Given the description of an element on the screen output the (x, y) to click on. 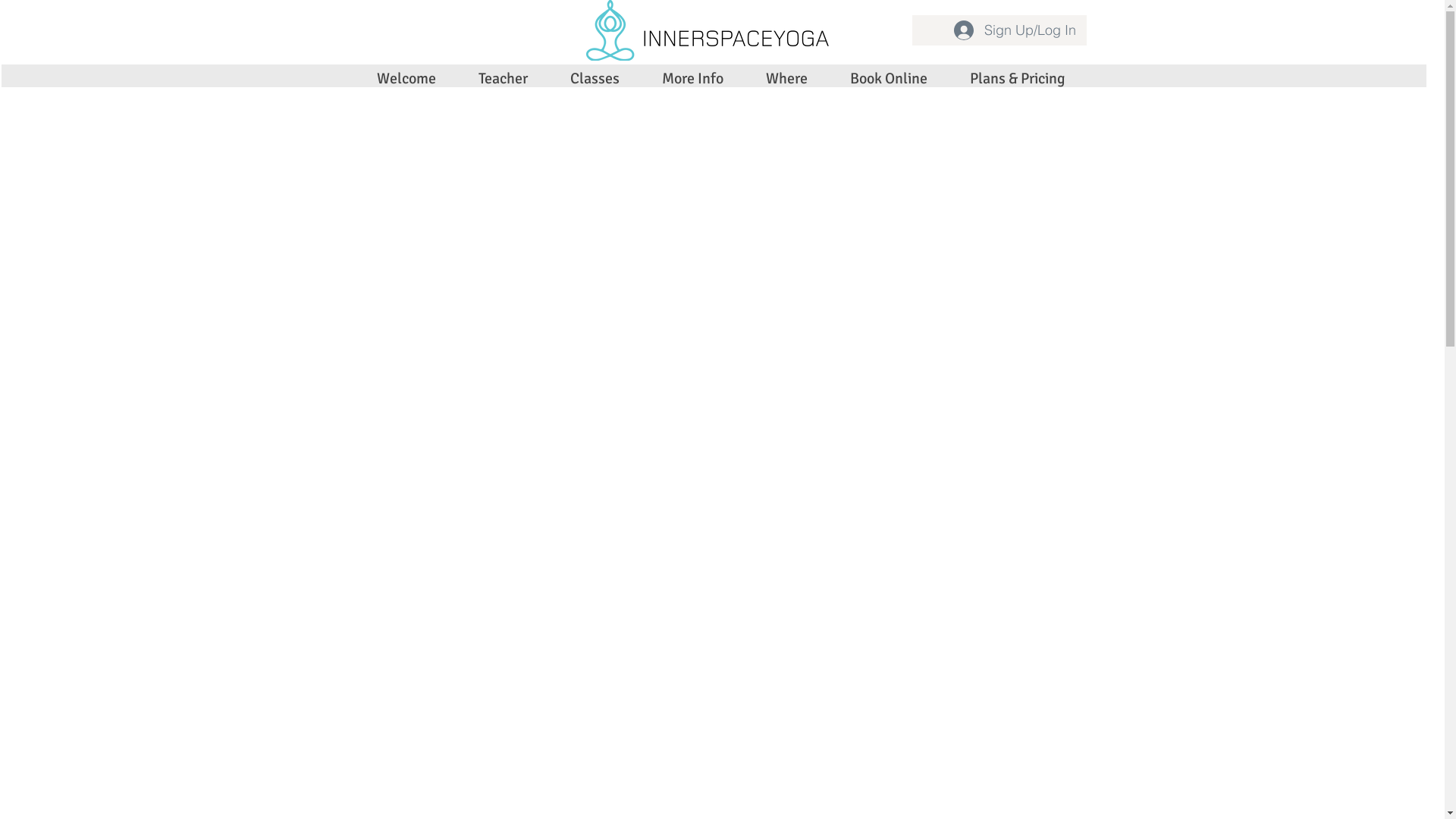
Teacher Element type: text (502, 78)
Plans & Pricing Element type: text (1016, 78)
Welcome Element type: text (406, 78)
Where Element type: text (786, 78)
More Info Element type: text (691, 78)
Sign Up/Log In Element type: text (1014, 29)
Book Online Element type: text (887, 78)
Classes Element type: text (594, 78)
